Given the description of an element on the screen output the (x, y) to click on. 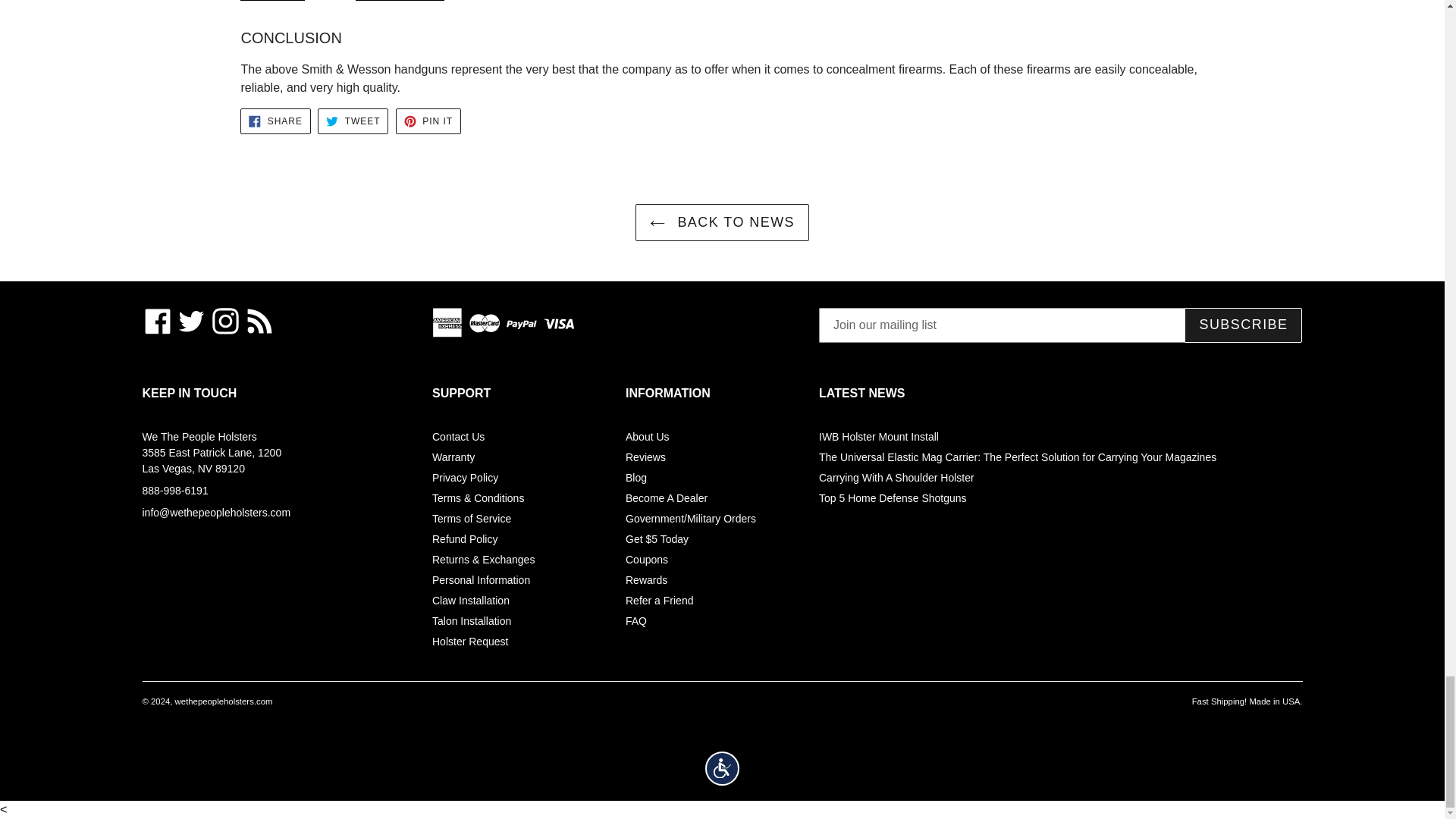
wethepeopleholsters.com on Instagram (225, 320)
wethepeopleholsters.com on Facebook (157, 320)
wethepeopleholsters.com on Twitter (191, 320)
Pin on Pinterest (428, 121)
Share on Facebook (275, 121)
Tweet on Twitter (352, 121)
